Given the description of an element on the screen output the (x, y) to click on. 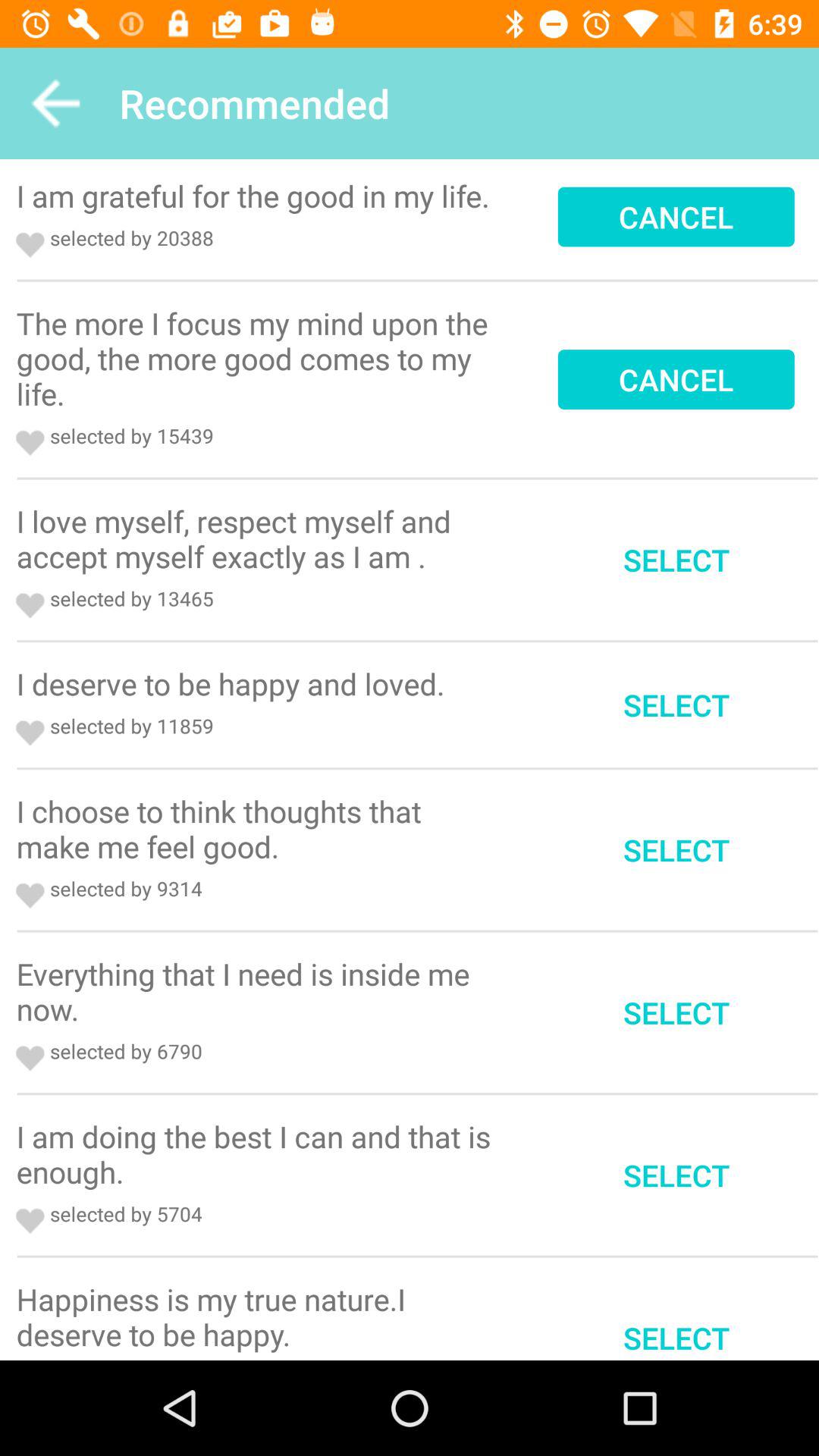
select the item to the left of select (258, 538)
